Given the description of an element on the screen output the (x, y) to click on. 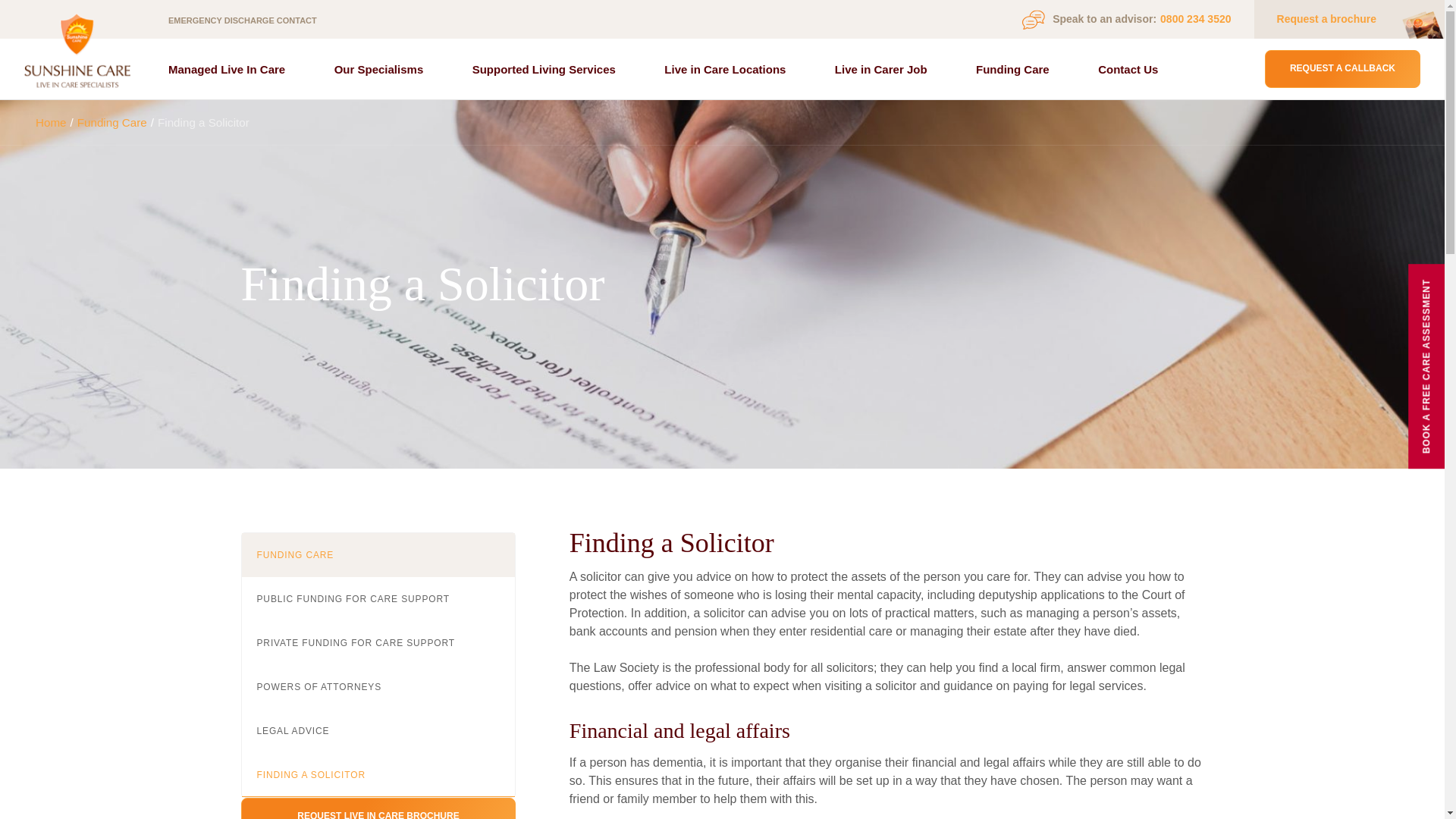
Go to Sunshine Care. (50, 121)
Managed Live In Care (226, 68)
0800 234 3520 (1195, 19)
Live in Care Locations (724, 68)
Supported Living Services (543, 68)
Go to Funding Care. (112, 121)
Our Specialisms (378, 68)
EMERGENCY DISCHARGE CONTACT (252, 19)
Live in Carer Job (880, 68)
